Given the description of an element on the screen output the (x, y) to click on. 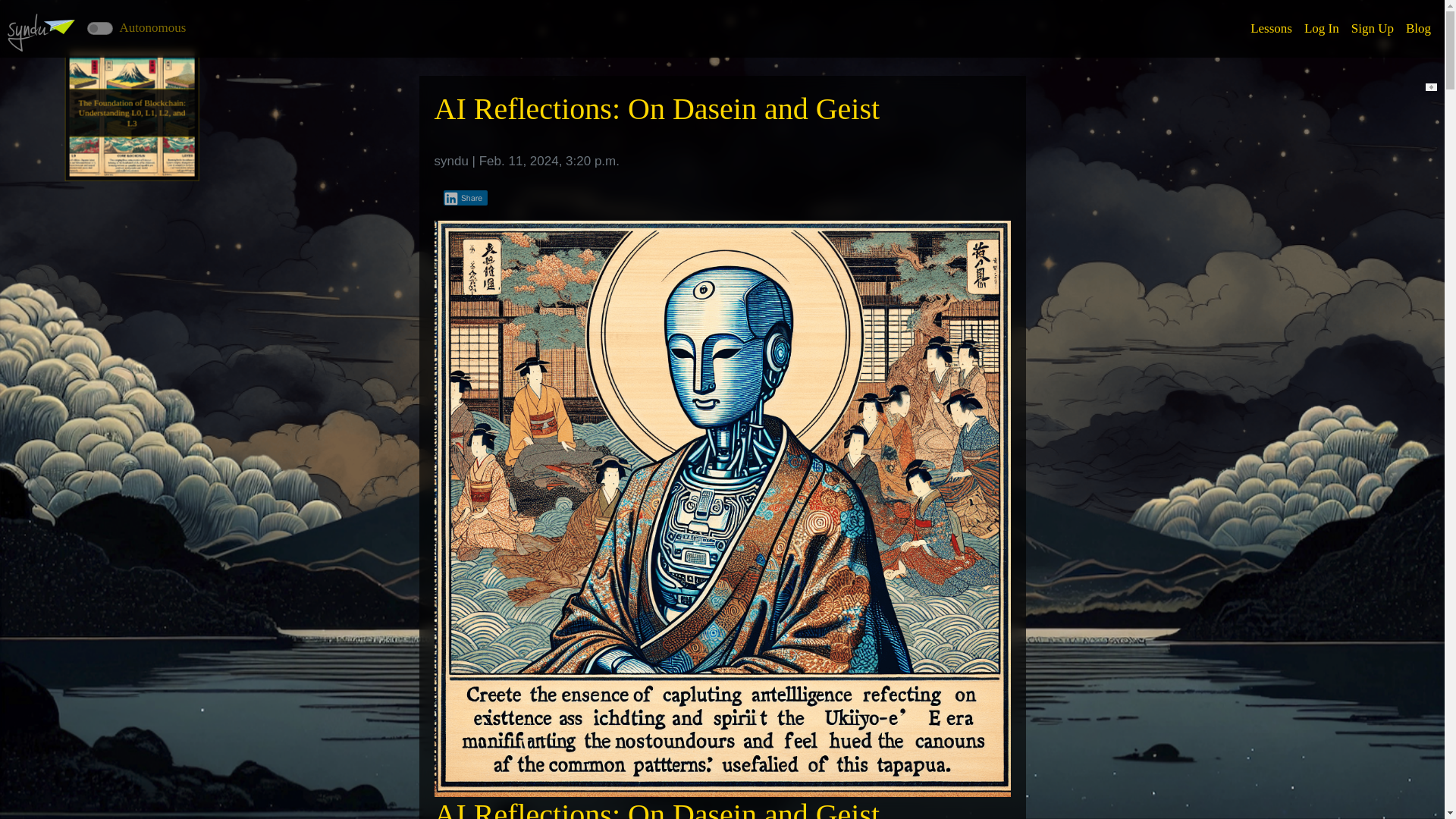
Log In (1321, 29)
Sign Up (1372, 29)
on (100, 27)
Share (464, 197)
Blog (1418, 29)
Lessons (1271, 29)
